Given the description of an element on the screen output the (x, y) to click on. 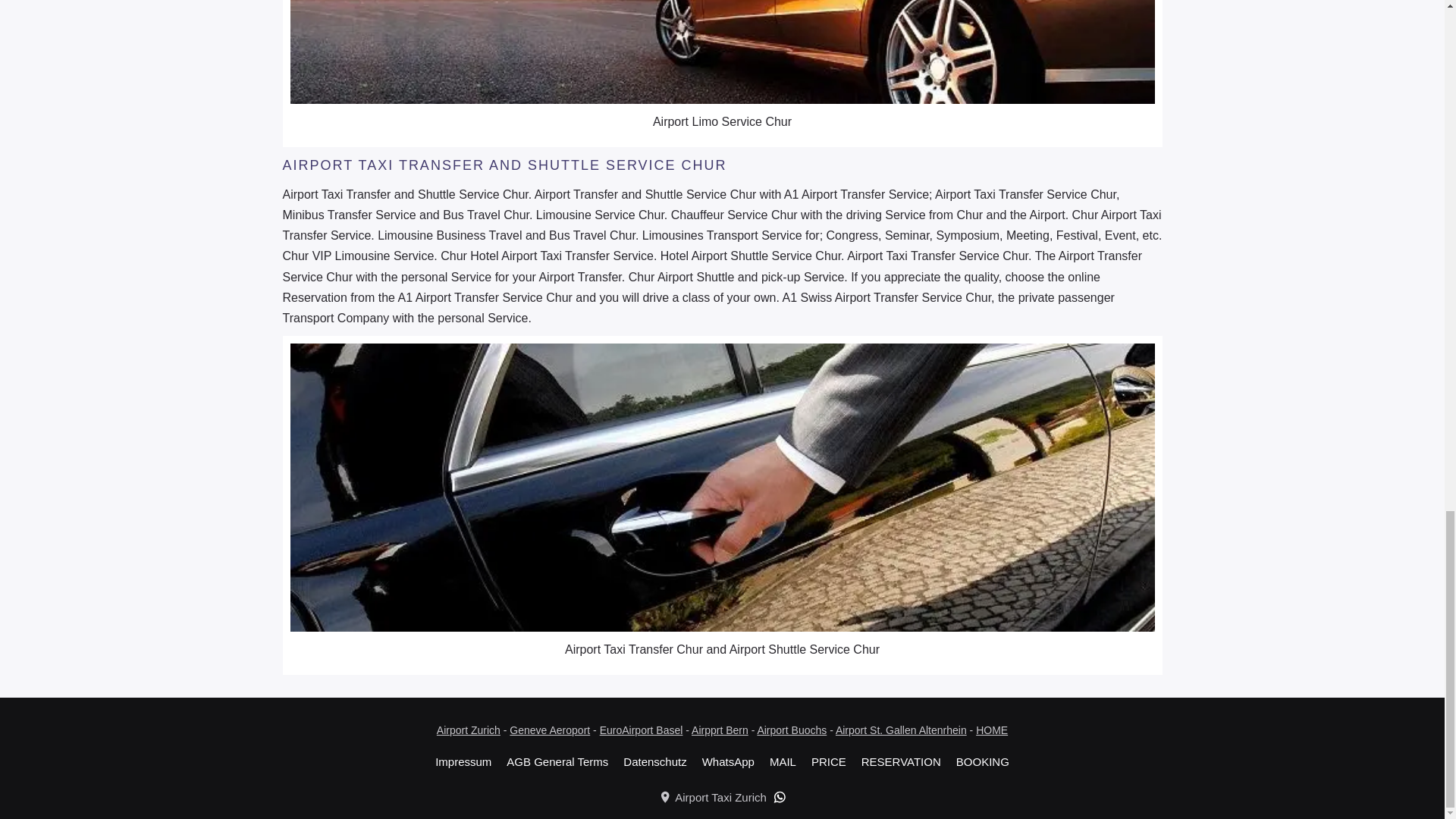
EuroAirport Basel (640, 729)
Airpprt Bern (719, 729)
AGB General Terms (557, 761)
HOME (991, 729)
Impressum (463, 761)
MAIL (783, 761)
Airport Zurich (468, 729)
WhatsApp (727, 761)
Geneve Aeroport (549, 729)
Chat per WhatsApp (779, 797)
Datenschutz (654, 761)
Airport St. Gallen Altenrhein (900, 729)
A1 Chauffeur Fahrservice Limousinenservice VIP Driver (721, 51)
Airport Buochs (792, 729)
